Given the description of an element on the screen output the (x, y) to click on. 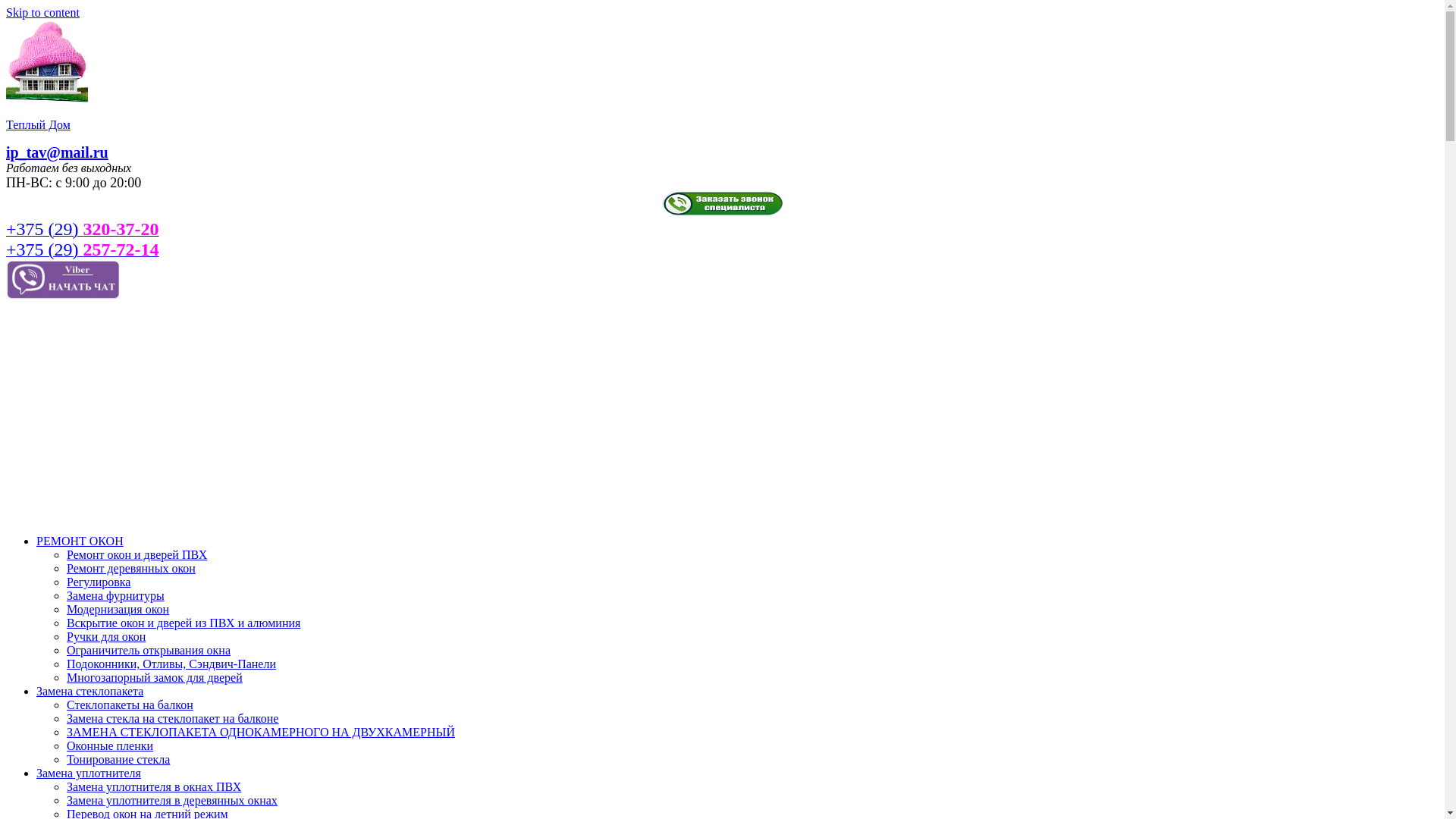
ip_tav@mail.ru Element type: text (57, 152)
+375 (29) 257-72-14 Element type: text (82, 250)
Skip to content Element type: text (42, 12)
+375 (29) 320-37-20 Element type: text (82, 230)
Advertisement Element type: hover (721, 416)
